Given the description of an element on the screen output the (x, y) to click on. 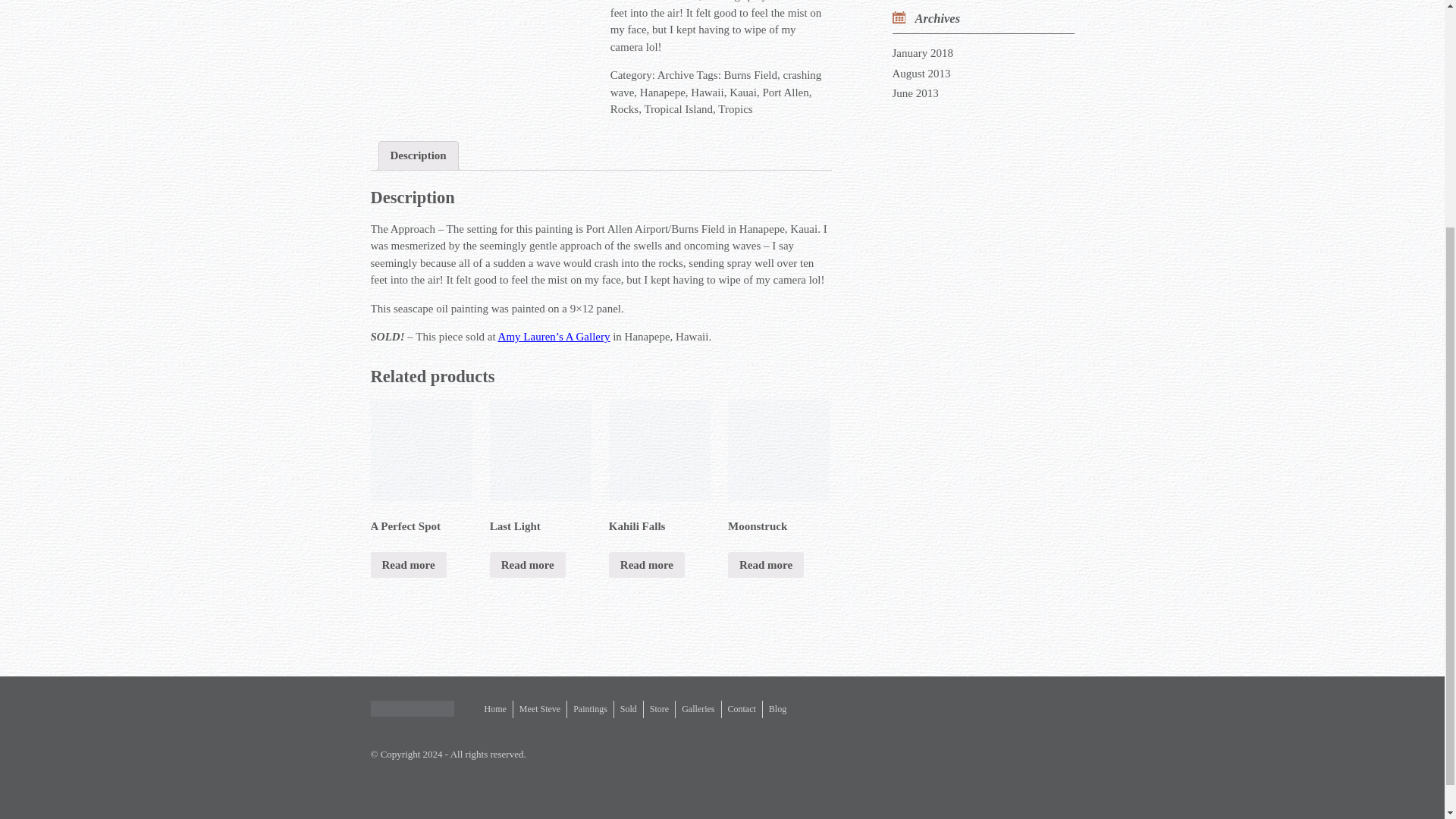
Amy Lauren's A Gallery (553, 336)
Archive (676, 74)
Hanapepe (662, 92)
Tropics (734, 109)
Rocks (624, 109)
Read more (527, 565)
Tropical Island (678, 109)
crashing wave (716, 83)
Read more (407, 565)
Burns Field (750, 74)
